Given the description of an element on the screen output the (x, y) to click on. 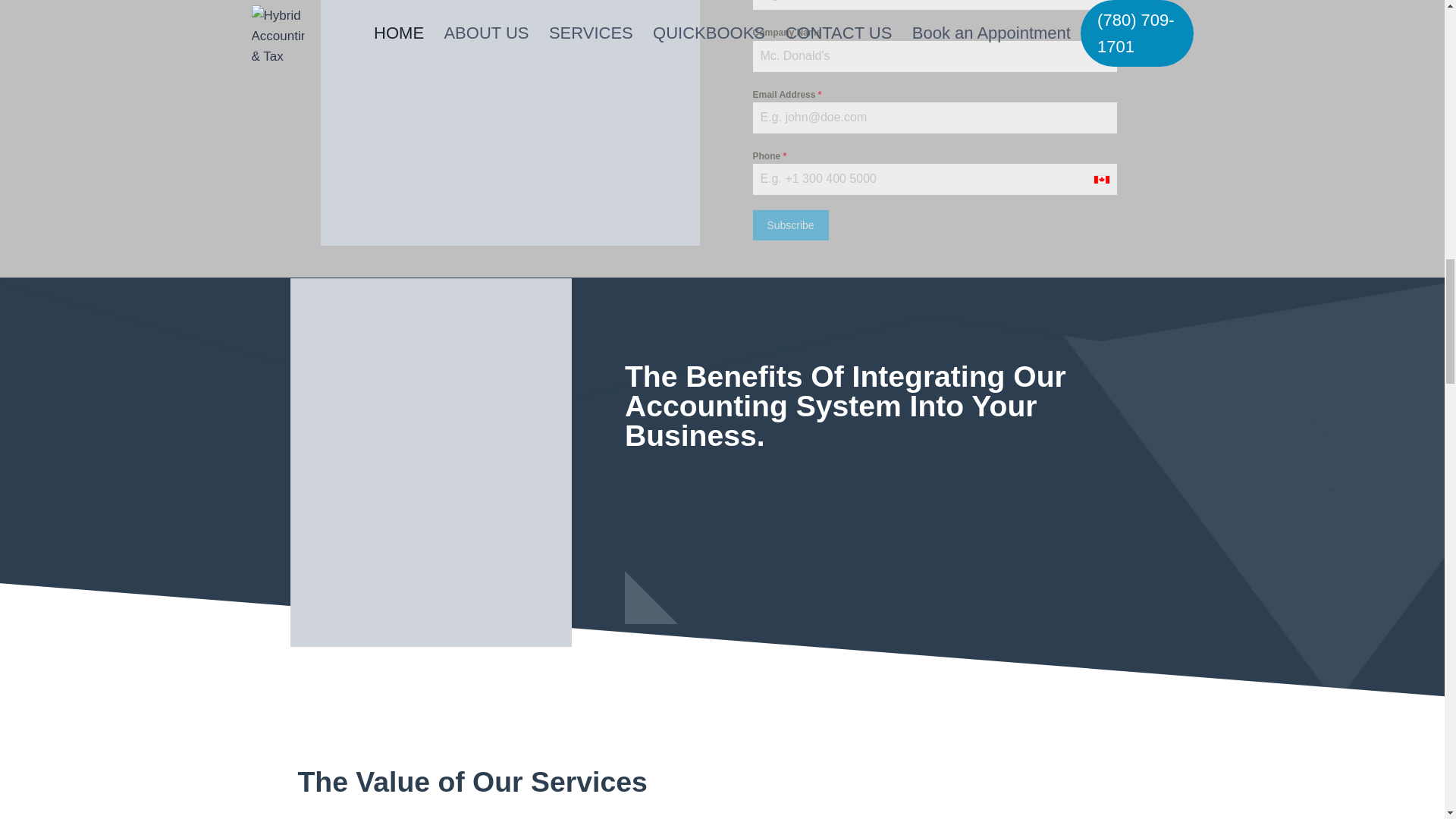
Subscribe (790, 224)
